Given the description of an element on the screen output the (x, y) to click on. 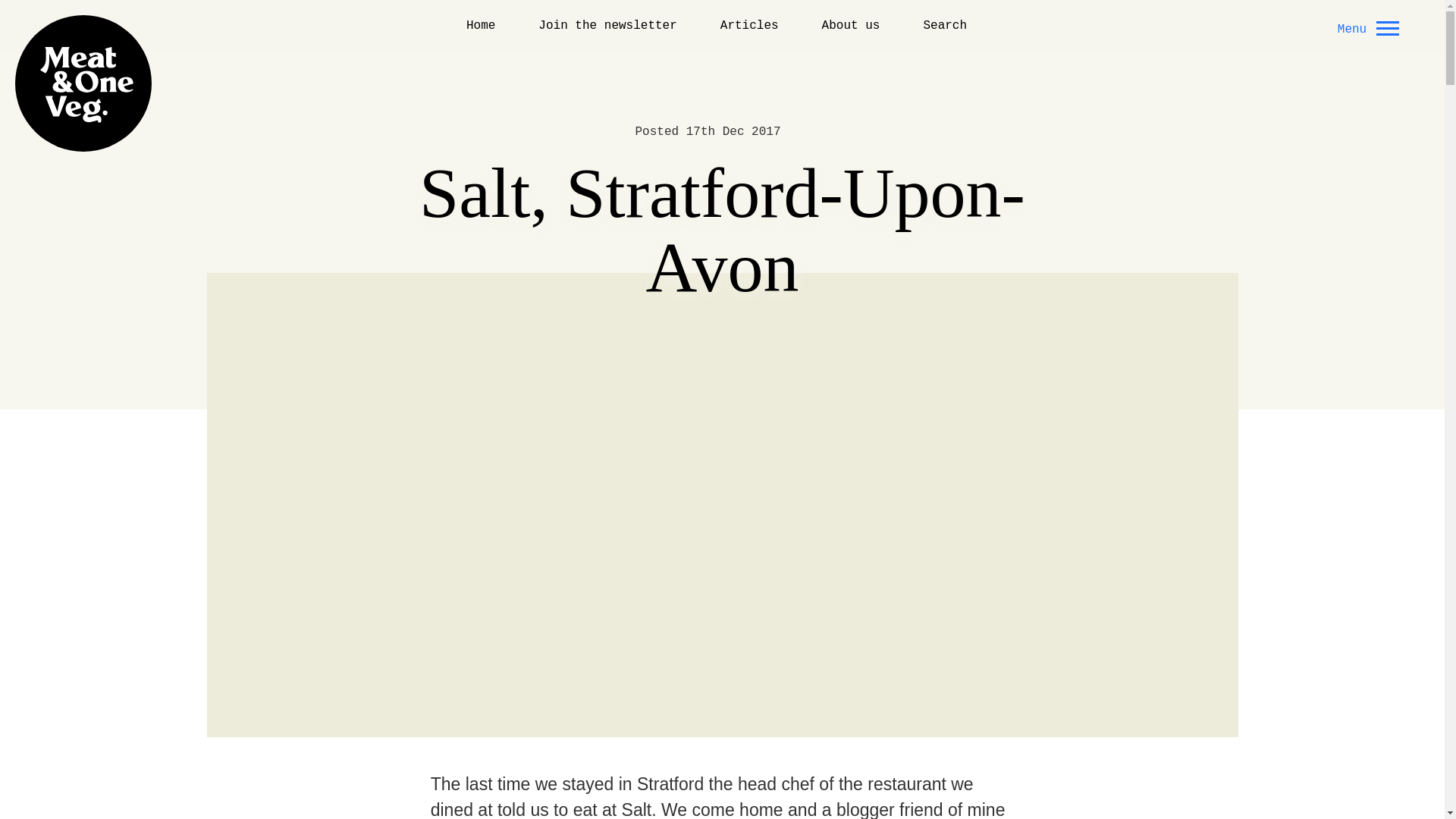
Skip to content (48, 11)
Menu (1364, 27)
About us (851, 25)
Go to home page (82, 83)
Articles (749, 25)
Search (944, 25)
Join the newsletter (607, 25)
